Given the description of an element on the screen output the (x, y) to click on. 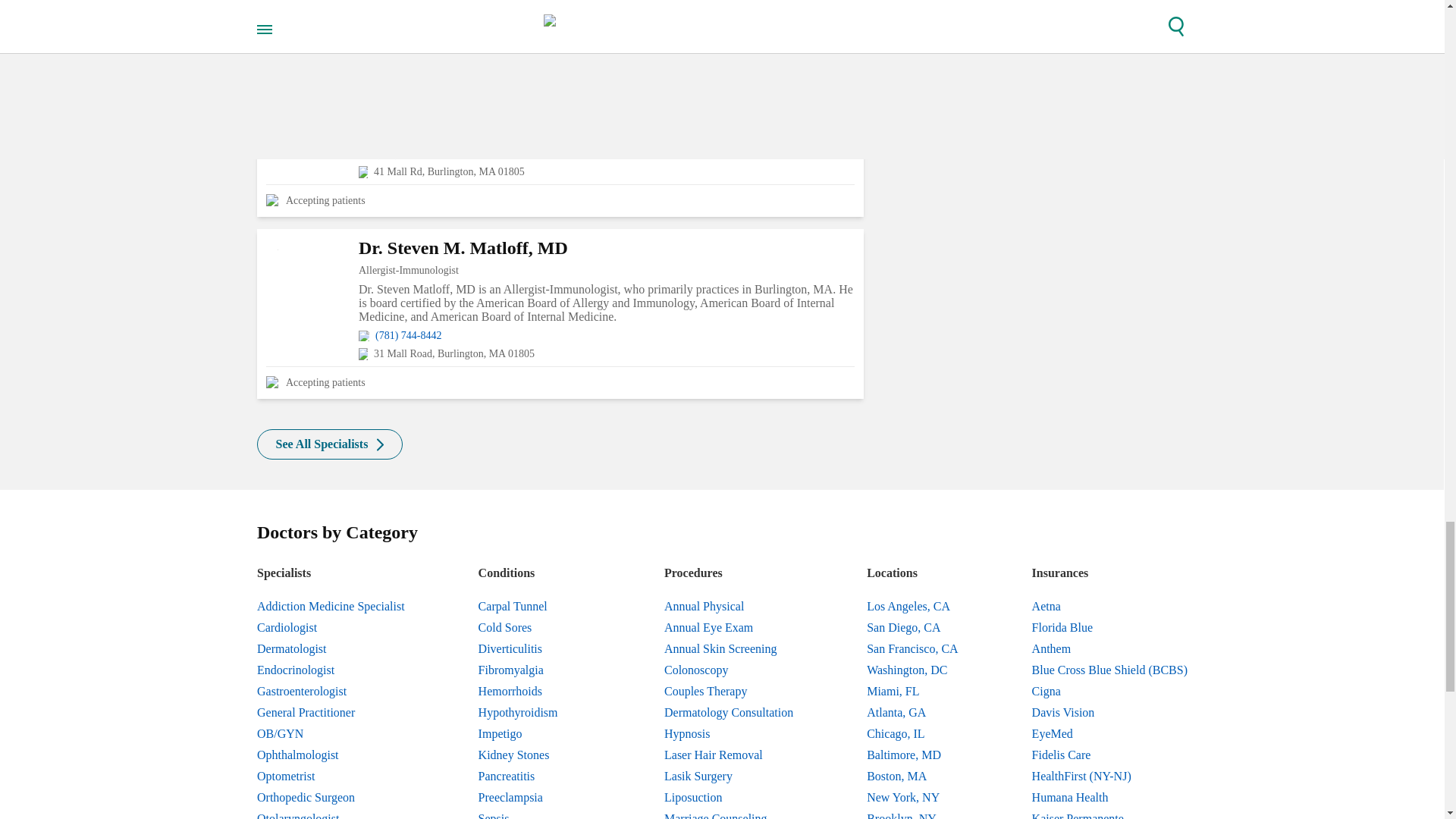
See All Specialists (330, 444)
Cardiologist (330, 627)
Gastroenterologist (330, 690)
Dr. Joseph E Kelleher Jr, MD (606, 79)
Ophthalmologist (330, 754)
Optometrist (330, 776)
Addiction Medicine Specialist (330, 606)
Dermatologist (330, 649)
Dr. Steven M. Matloff, MD (606, 248)
General Practitioner (330, 712)
